Given the description of an element on the screen output the (x, y) to click on. 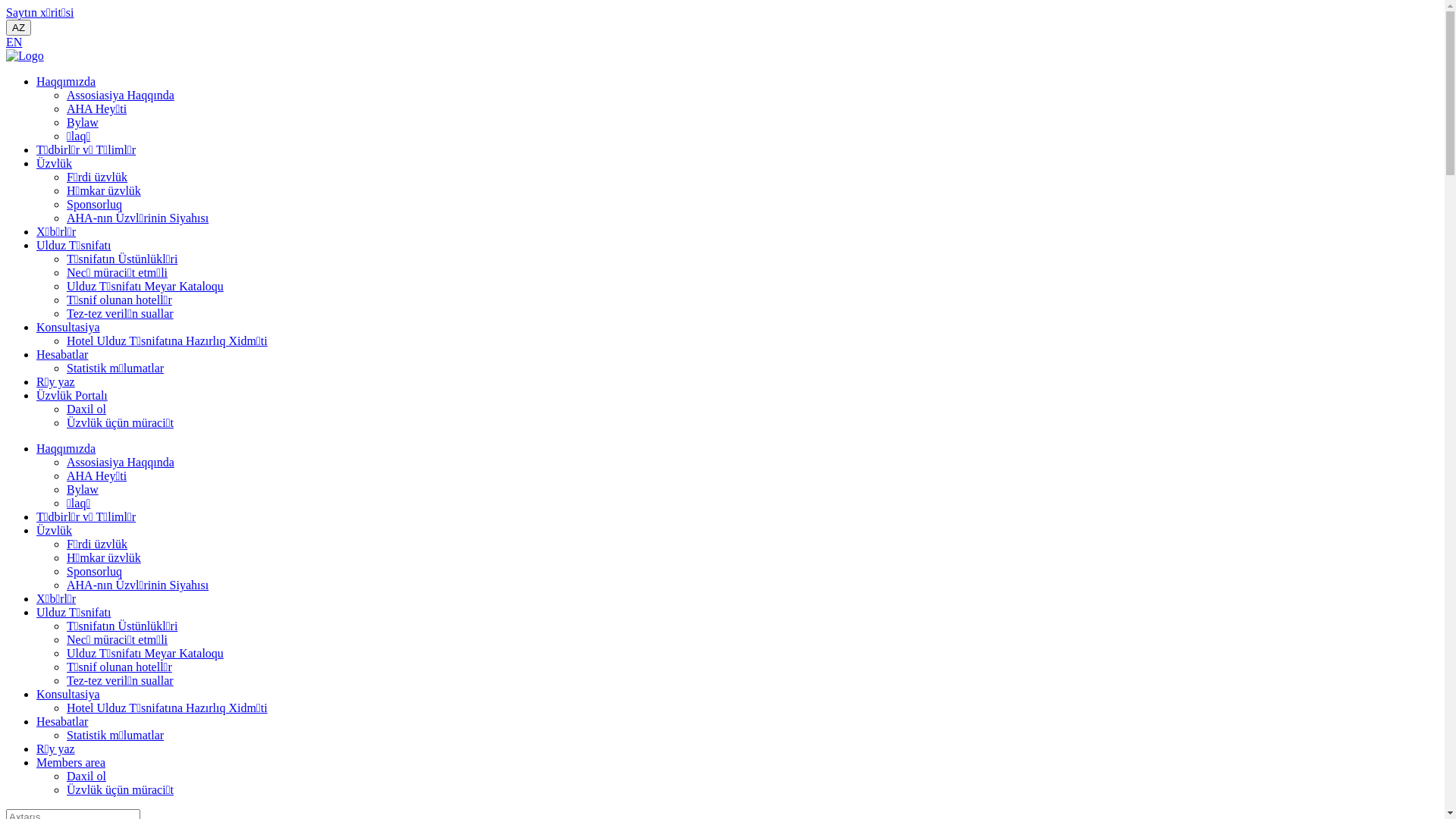
Sponsorluq Element type: text (94, 203)
Daxil ol Element type: text (86, 775)
AZ Element type: text (18, 27)
Konsultasiya Element type: text (68, 693)
Konsultasiya Element type: text (68, 326)
Members area Element type: text (70, 762)
Hesabatlar Element type: text (61, 721)
Hesabatlar Element type: text (61, 354)
EN Element type: text (13, 41)
Bylaw Element type: text (82, 489)
Sponsorluq Element type: text (94, 570)
Daxil ol Element type: text (86, 408)
Bylaw Element type: text (82, 122)
